Given the description of an element on the screen output the (x, y) to click on. 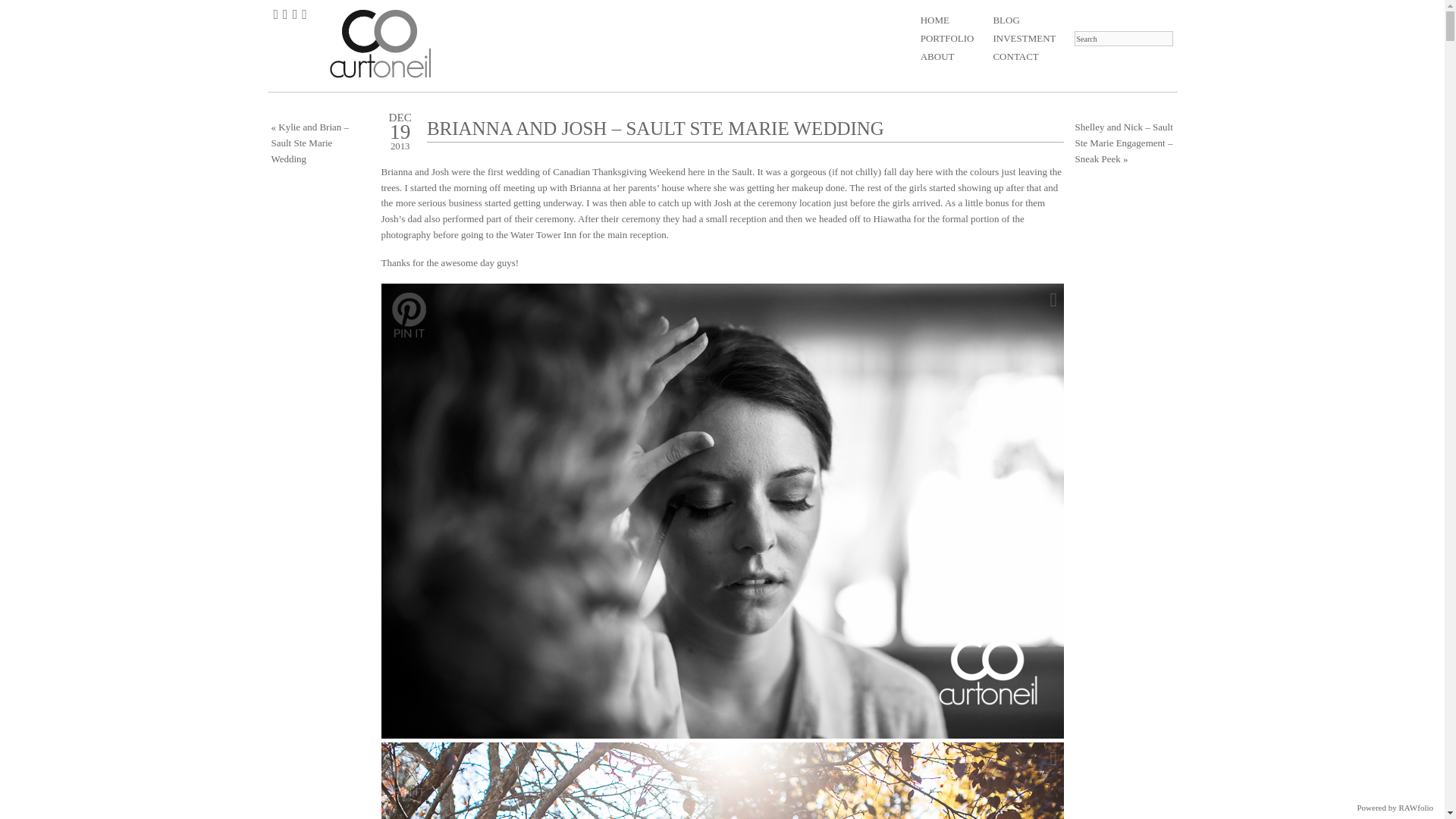
Like this image (1053, 758)
PORTFOLIO (947, 38)
Like this image (1053, 300)
INVESTMENT (1023, 38)
Search (1123, 38)
ABOUT (947, 56)
Go (12, 7)
BLOG (1023, 20)
CONTACT (1023, 56)
HOME (947, 20)
